Given the description of an element on the screen output the (x, y) to click on. 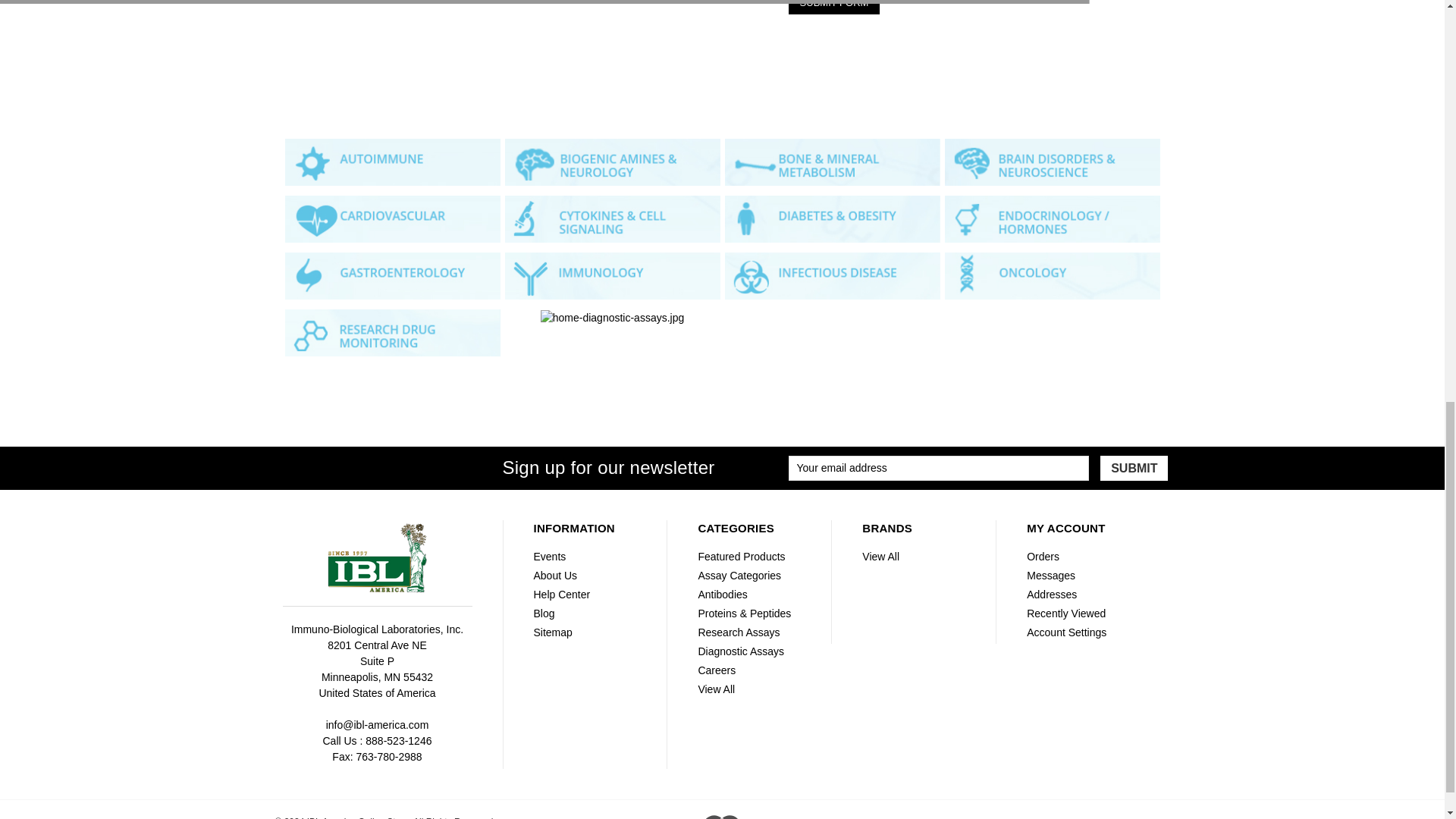
Auto Immune Assay Kits (392, 161)
home-diagnostic-assays.jpg (832, 275)
home-diagnostic-assays.jpg (612, 317)
Submit (1133, 468)
home-diagnostic-assays.jpg (832, 218)
home-diagnostic-assays.jpg (1052, 161)
home-diagnostic-assays.jpg (612, 218)
home-diagnostic-assays.jpg (612, 275)
home-diagnostic-assays.jpg (392, 218)
Submit Form (834, 7)
